Given the description of an element on the screen output the (x, y) to click on. 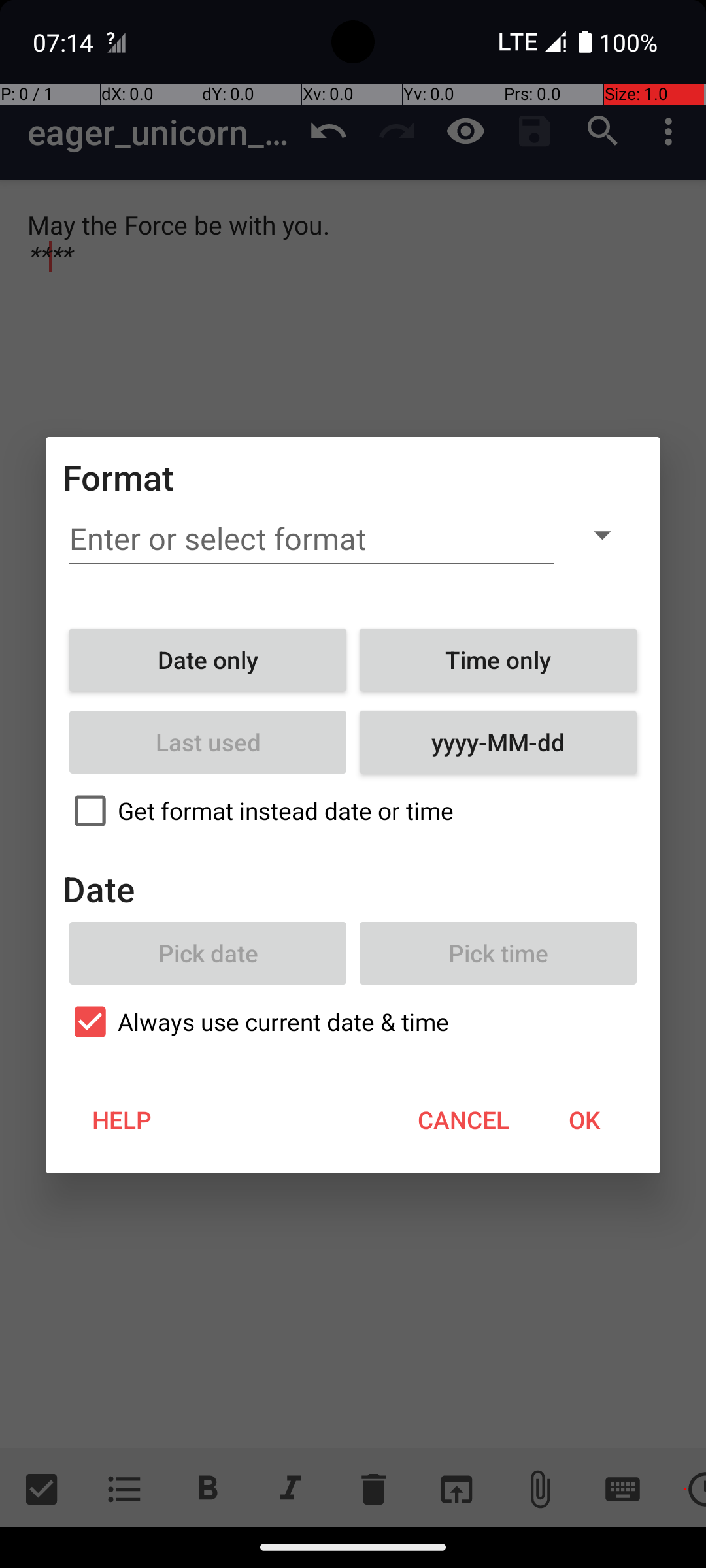
07:14 Element type: android.widget.TextView (64, 41)
